Given the description of an element on the screen output the (x, y) to click on. 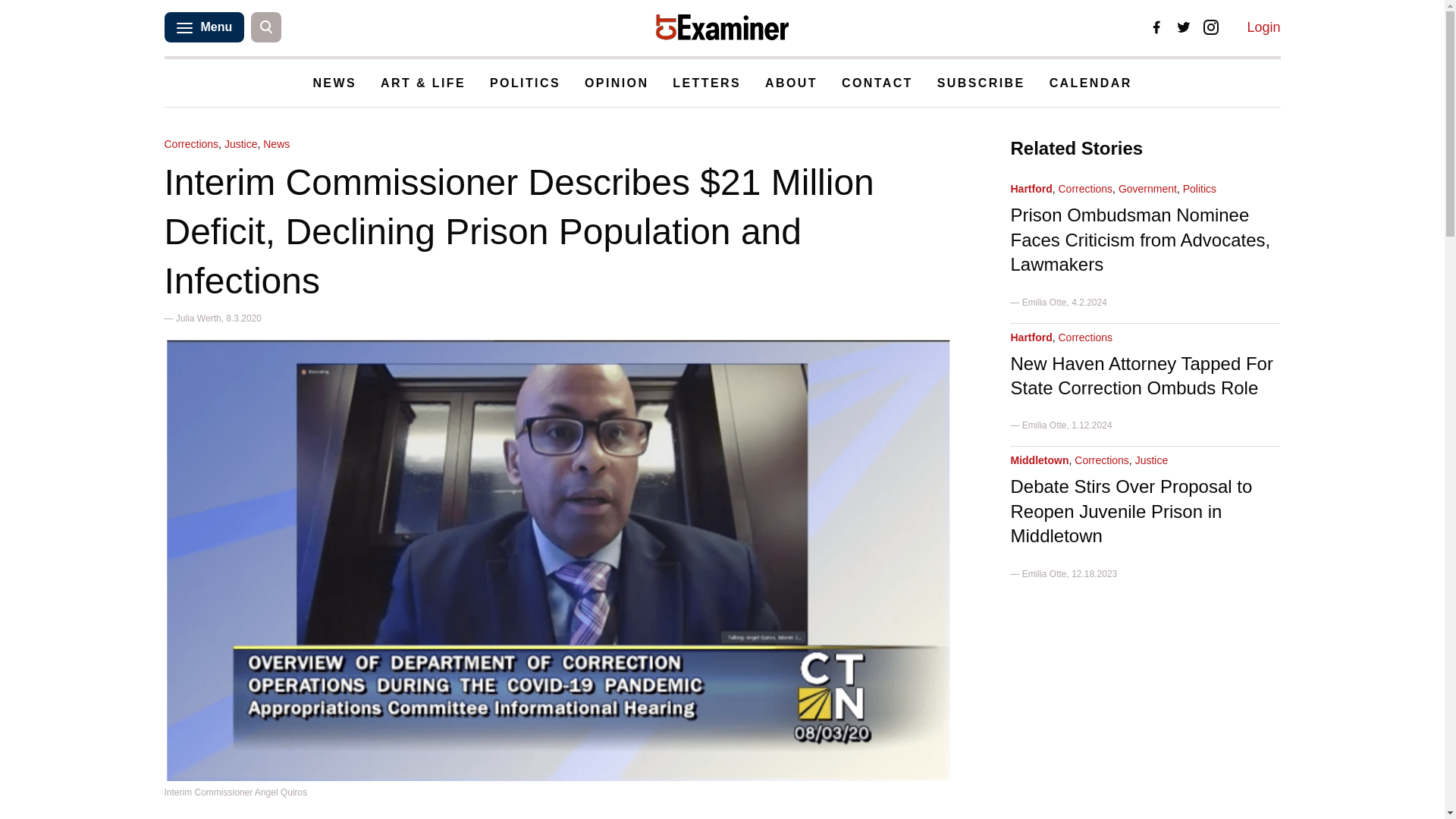
CONTACT (876, 82)
twitter (1183, 27)
NEWS (334, 82)
OPINION (616, 82)
LETTERS (706, 82)
ABOUT (790, 82)
CALENDAR (1090, 82)
CT Examiner (722, 27)
POLITICS (524, 82)
SUBSCRIBE (981, 82)
Login (1262, 27)
facebook (1155, 27)
Menu (203, 27)
Corrections (190, 143)
Justice (240, 143)
